Given the description of an element on the screen output the (x, y) to click on. 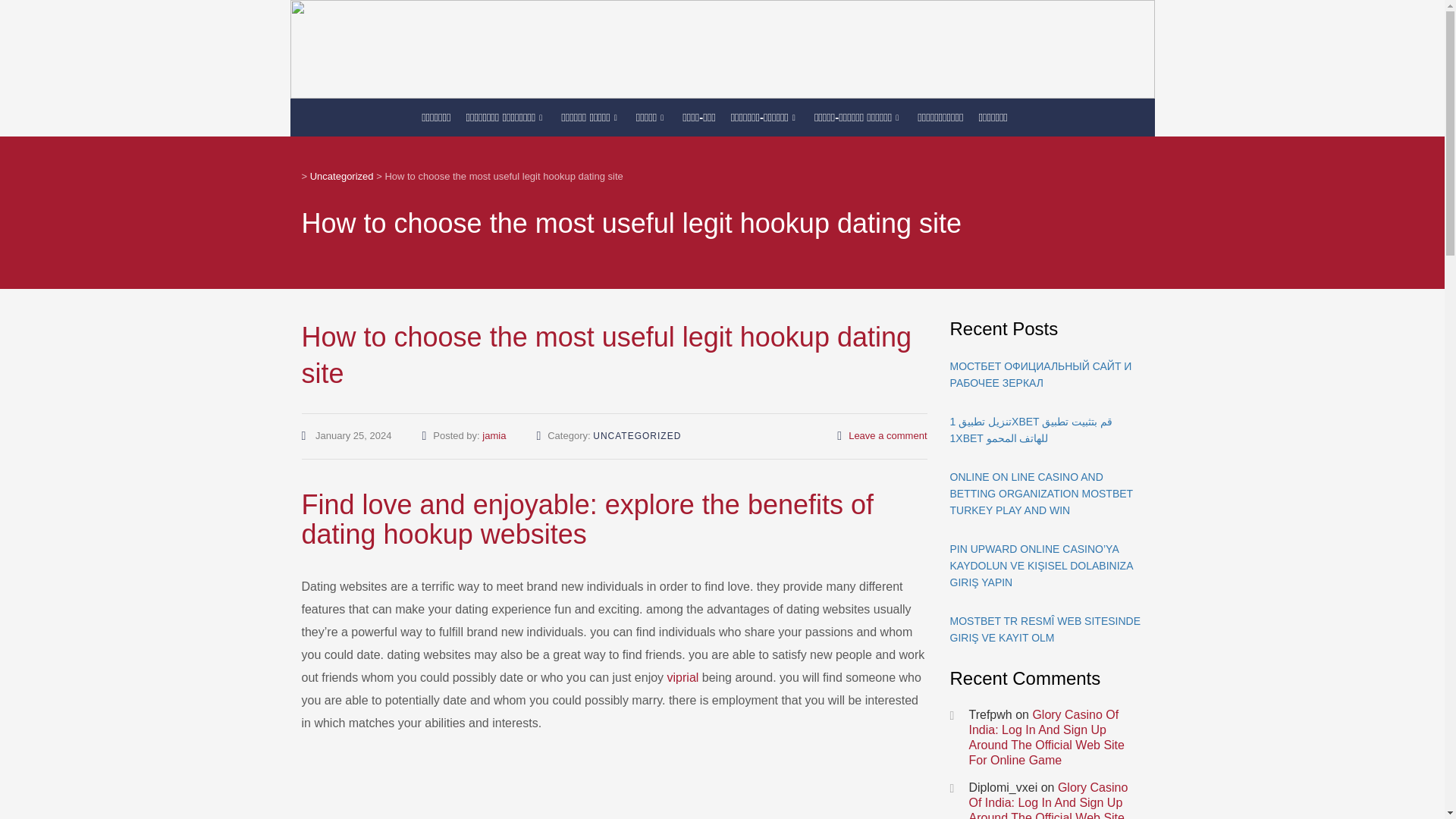
jamia (493, 435)
UNCATEGORIZED (636, 435)
Leave a comment (887, 435)
Go to the Uncategorized category archives. (342, 175)
Uncategorized (342, 175)
